Given the description of an element on the screen output the (x, y) to click on. 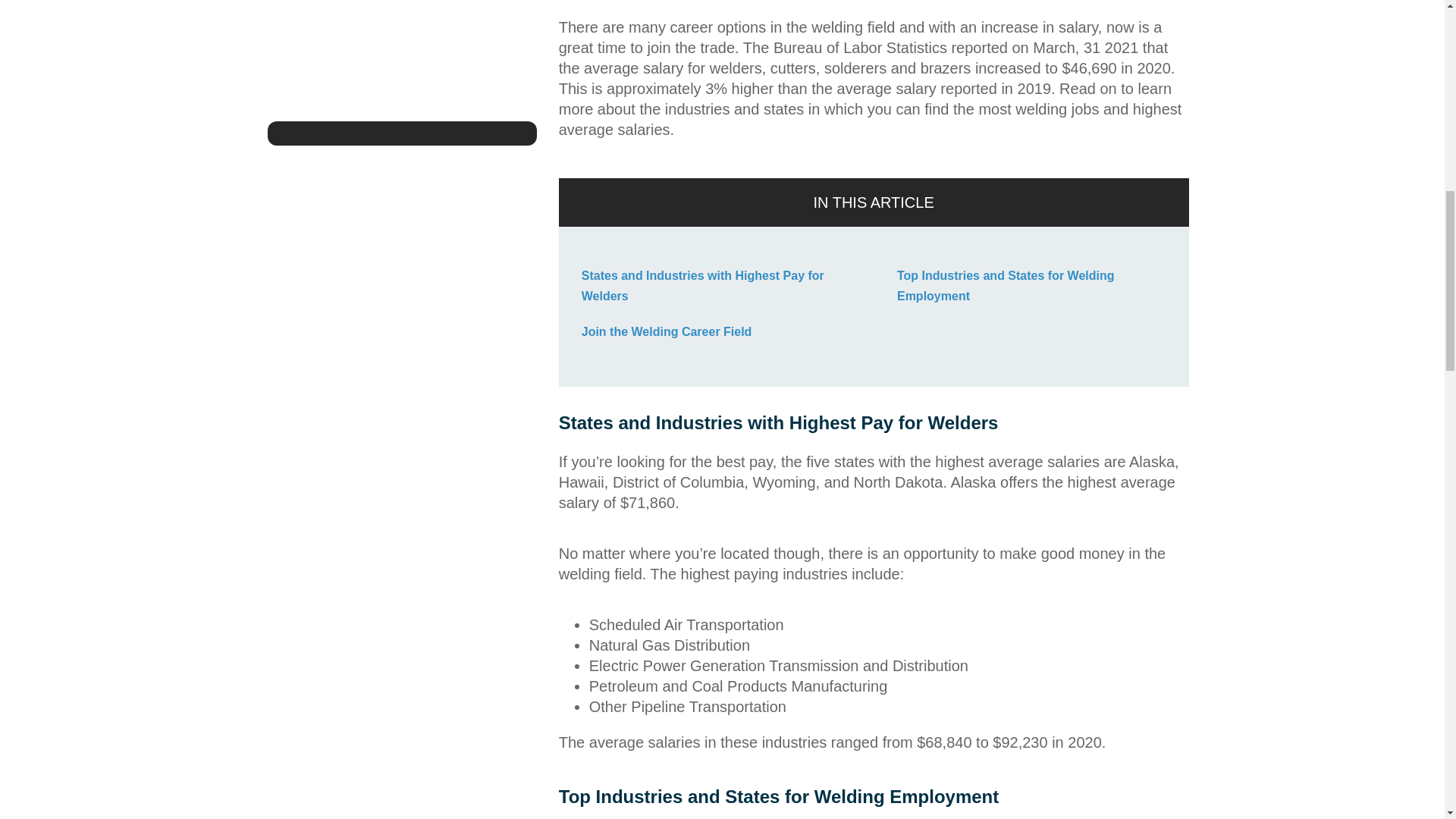
Join the Welding Career Field (666, 331)
Top Industries and States for Welding Employment (1005, 285)
States and Industries with Highest Pay for Welders (702, 285)
